Given the description of an element on the screen output the (x, y) to click on. 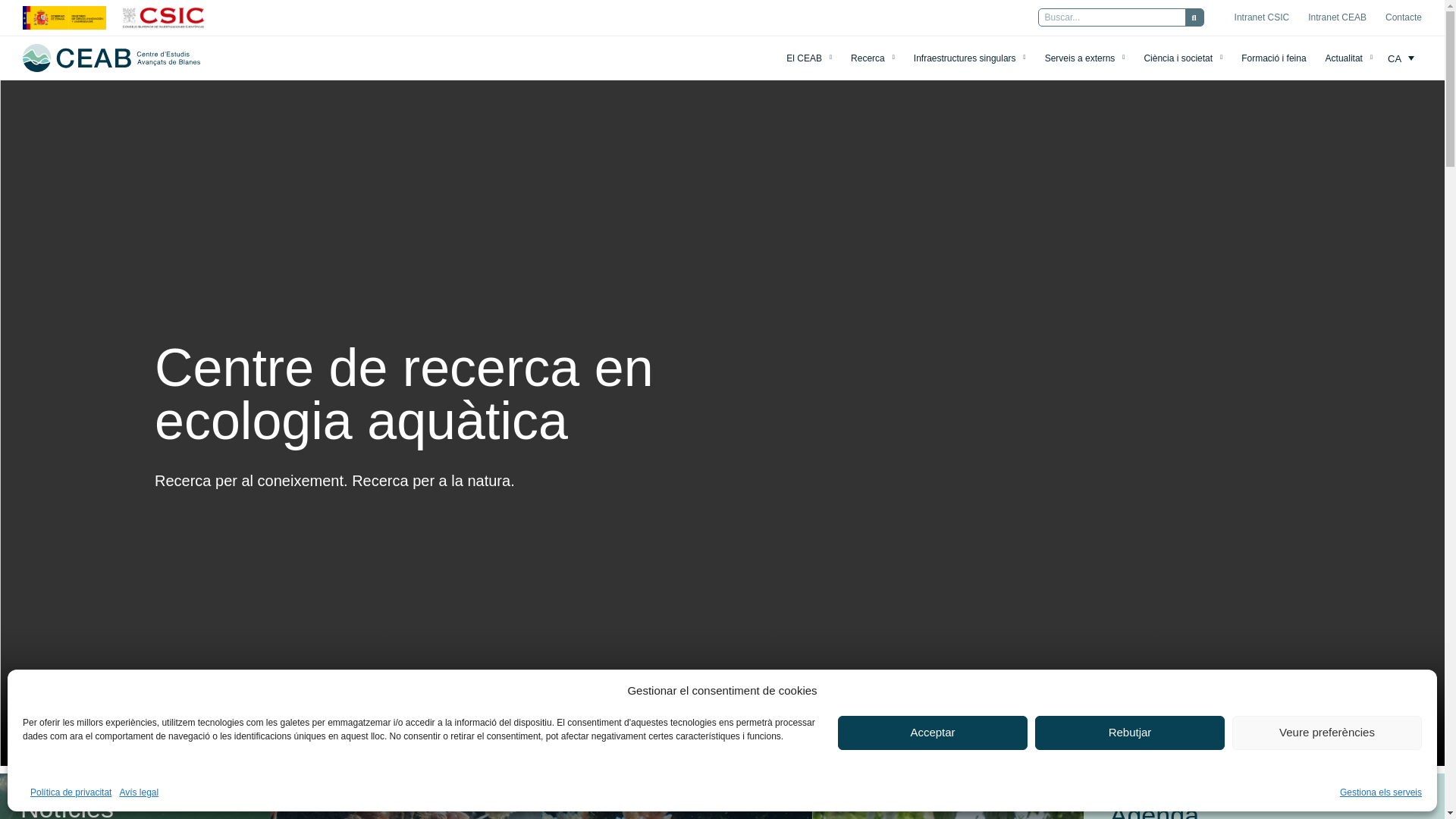
Intranet CSIC (1262, 17)
Contacte (1404, 17)
Rebutjar (1129, 732)
Recerca (872, 57)
Gestiona els serveis (1380, 792)
Acceptar (932, 732)
Intranet CEAB (1337, 17)
El CEAB (808, 57)
Infraestructures singulars (970, 57)
